Given the description of an element on the screen output the (x, y) to click on. 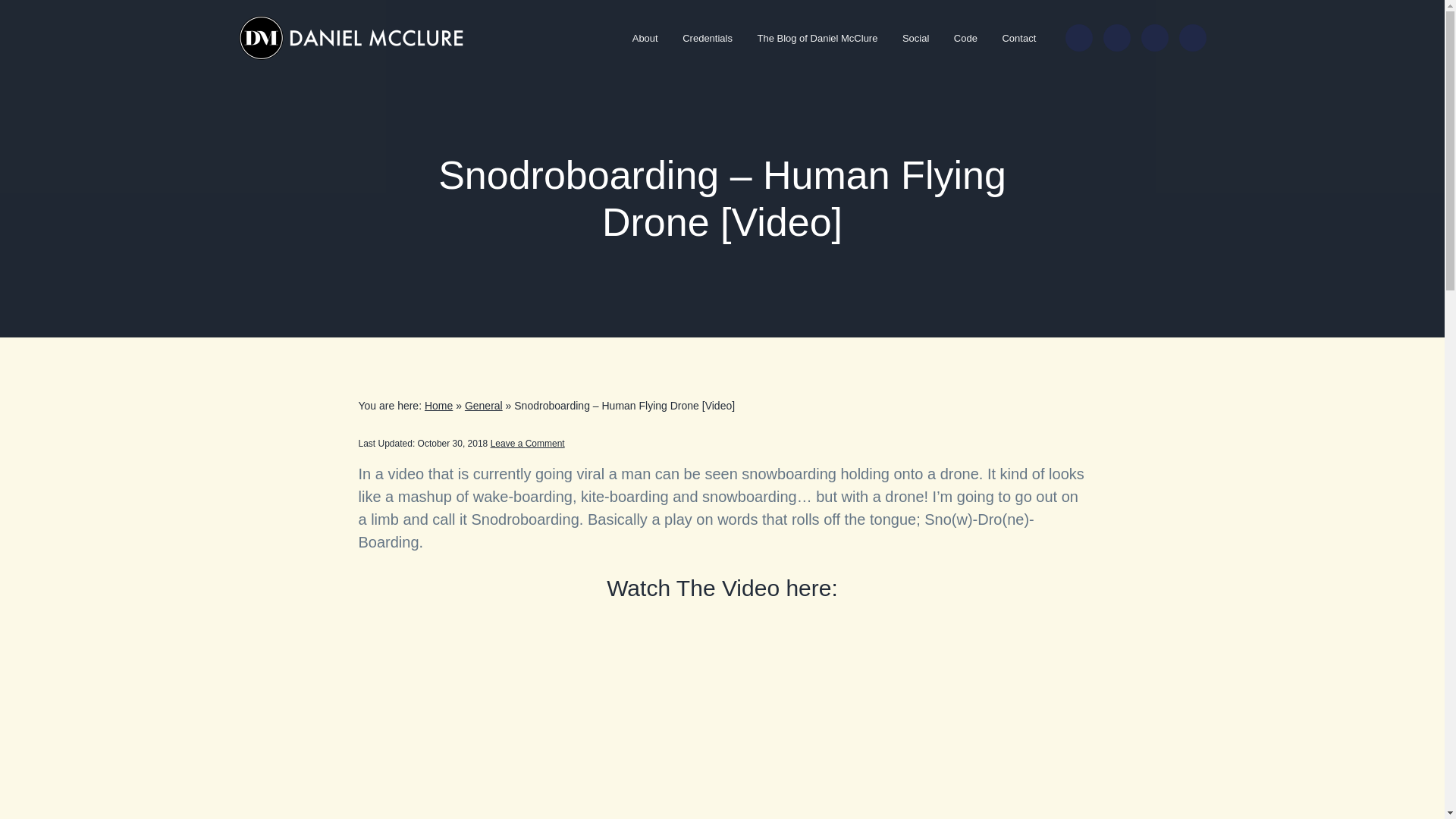
Daniel McClure (282, 74)
Code (966, 38)
Credentials (706, 38)
Contact (1019, 38)
About (644, 38)
Home (438, 405)
The Blog of Daniel McClure (816, 38)
General (483, 405)
Leave a Comment (527, 443)
